Given the description of an element on the screen output the (x, y) to click on. 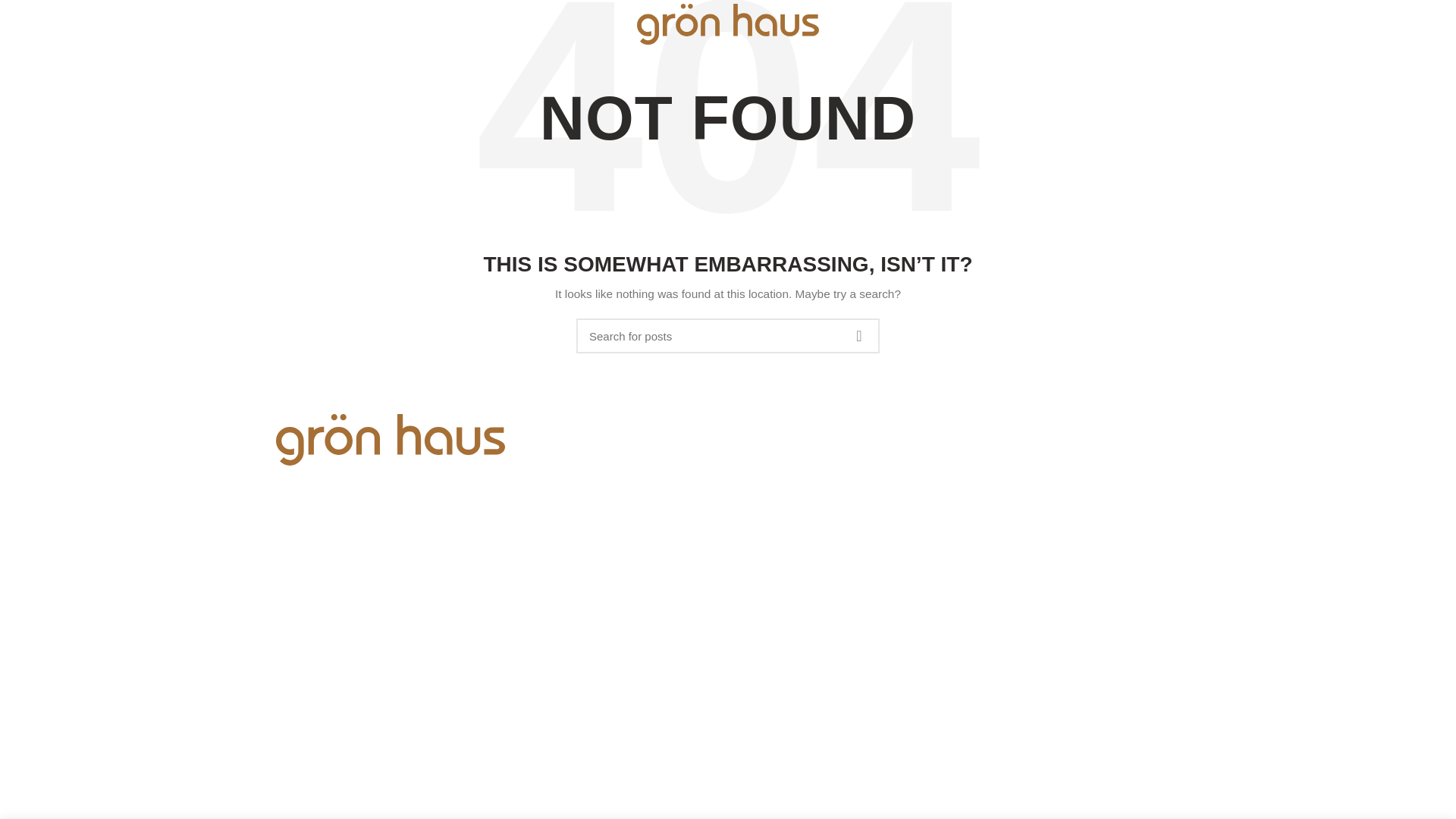
Terms and Conditions Element type: text (1053, 664)
CONTACT Element type: text (269, 24)
My account Element type: hover (1335, 24)
Privacy Policy Element type: text (979, 664)
office@gronhaus.com.au Element type: text (352, 541)
03 9874 1128 Element type: text (325, 520)
HOME Element type: text (62, 24)
Community Element type: text (612, 474)
Search Element type: hover (1315, 24)
gron_haus Element type: text (318, 583)
STOCKISTS Element type: text (337, 24)
Home Element type: text (599, 421)
Website by Kobe Creations Element type: text (1105, 648)
Our Story Element type: text (607, 447)
0 / $ 0.00 Element type: text (1380, 24)
SEARCH Element type: text (859, 335)
COMMUNITY Element type: text (198, 24)
OUR STORY Element type: text (122, 24)
Contact Element type: text (603, 500)
